Given the description of an element on the screen output the (x, y) to click on. 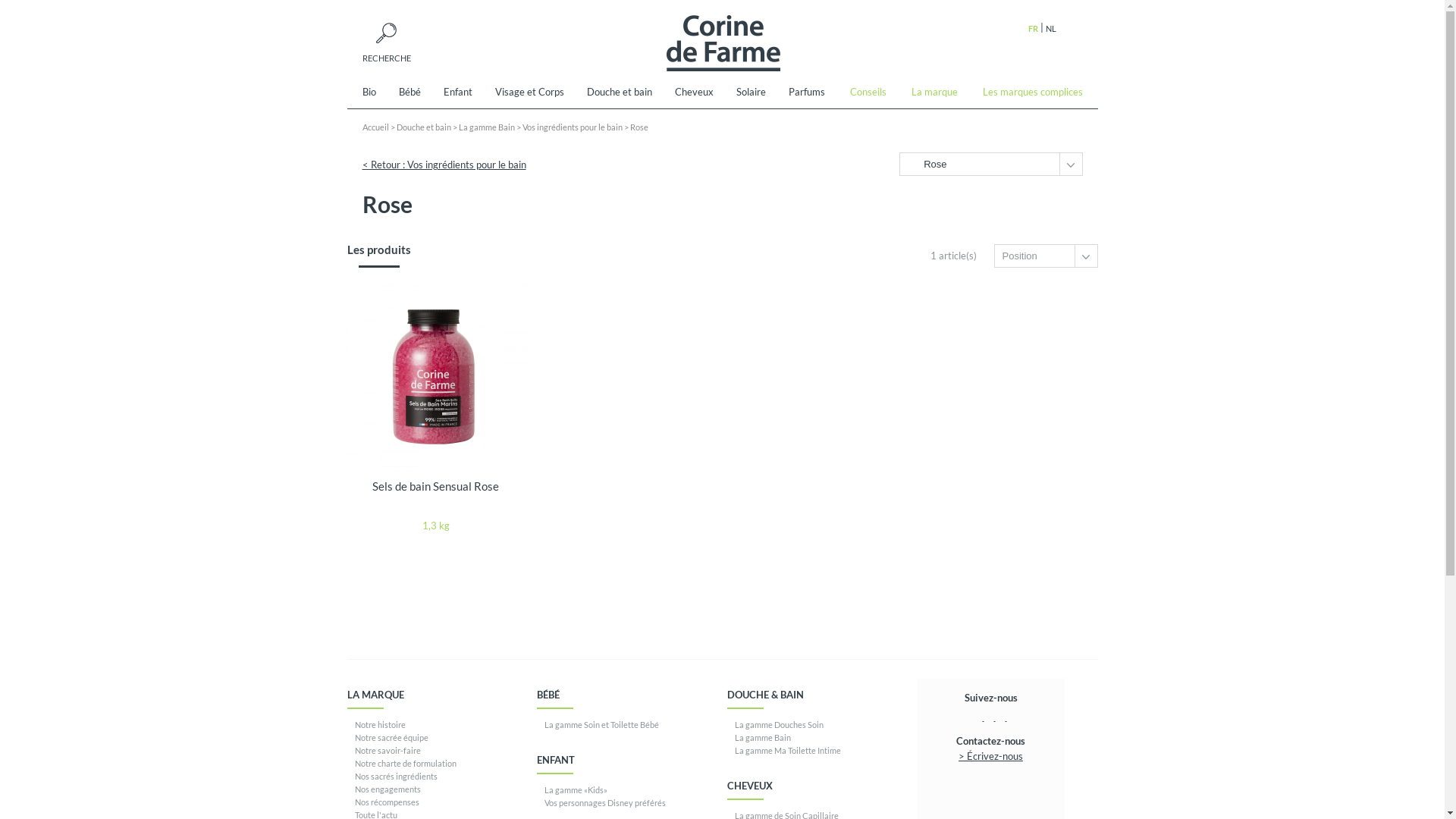
Notre savoir-faire Element type: text (387, 749)
Nos engagements Element type: text (387, 788)
  Element type: text (983, 716)
  Element type: text (993, 716)
Bio Element type: text (374, 93)
Rose Element type: text (638, 126)
Conseils Element type: text (867, 93)
Accueil Element type: text (376, 126)
Douche et bain Element type: text (423, 126)
FR Element type: text (1033, 28)
Parfums Element type: text (805, 93)
La gamme Douches Soin Element type: text (778, 723)
Cheveux Element type: text (693, 93)
Visage et Corps Element type: text (529, 93)
Douche et bain Element type: text (618, 93)
instagram Element type: hover (993, 716)
Enfant Element type: text (457, 93)
La gamme Bain Element type: text (486, 126)
Solaire Element type: text (750, 93)
Notre charte de formulation Element type: text (405, 763)
Sels de bain Sensual Rose
1,3 kg Element type: text (435, 407)
La gamme Bain Element type: text (762, 737)
RECHERCHE Element type: text (386, 42)
NL Element type: text (1049, 28)
Youtube Element type: hover (1006, 716)
La gamme Ma Toilette Intime Element type: text (787, 749)
Les produits Element type: text (379, 255)
Facebook Element type: hover (983, 716)
Notre histoire Element type: text (379, 723)
  Element type: text (1006, 716)
